Given the description of an element on the screen output the (x, y) to click on. 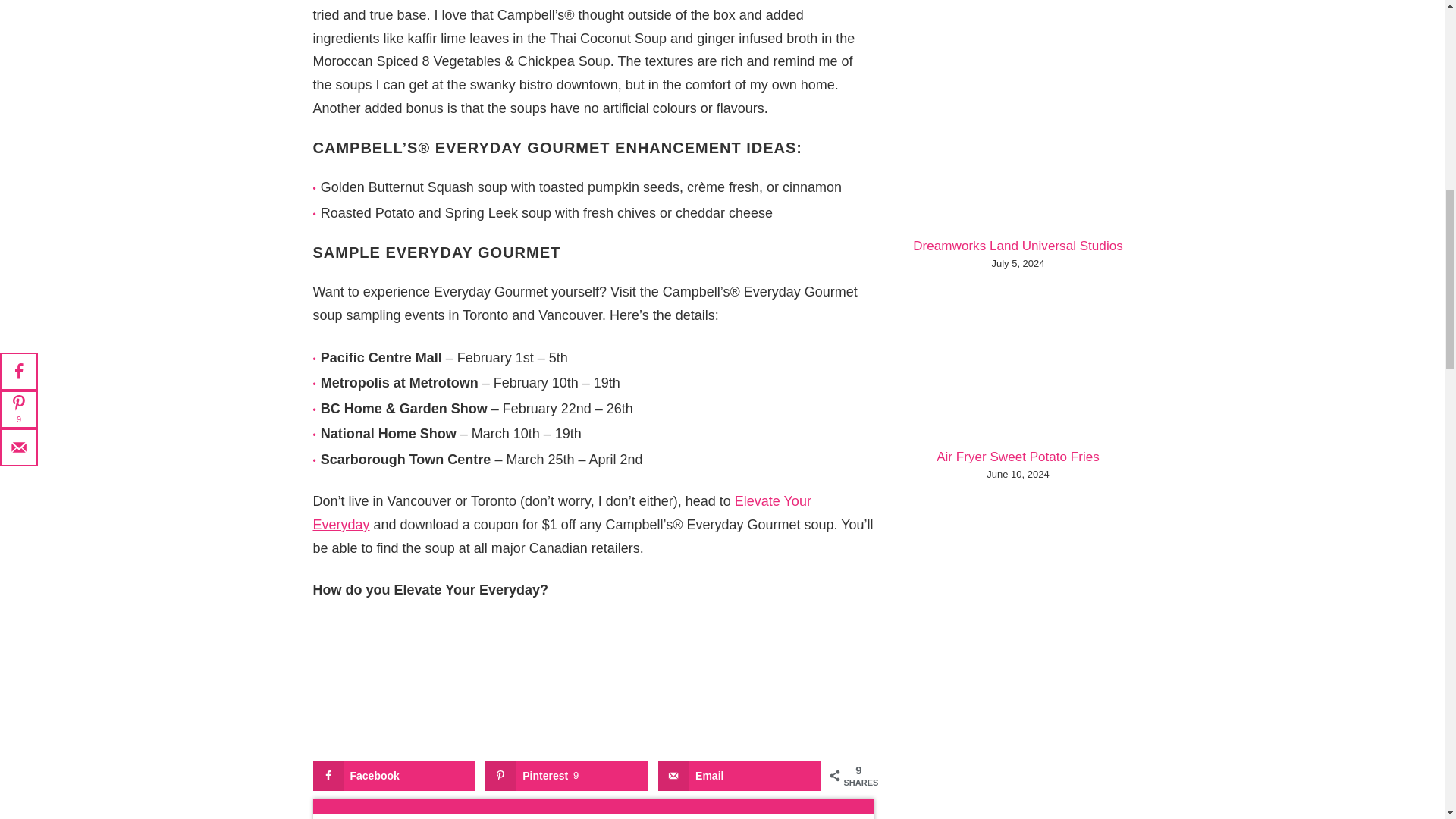
Save to Pinterest (565, 775)
Share on Facebook (393, 775)
Send over email (739, 775)
